Given the description of an element on the screen output the (x, y) to click on. 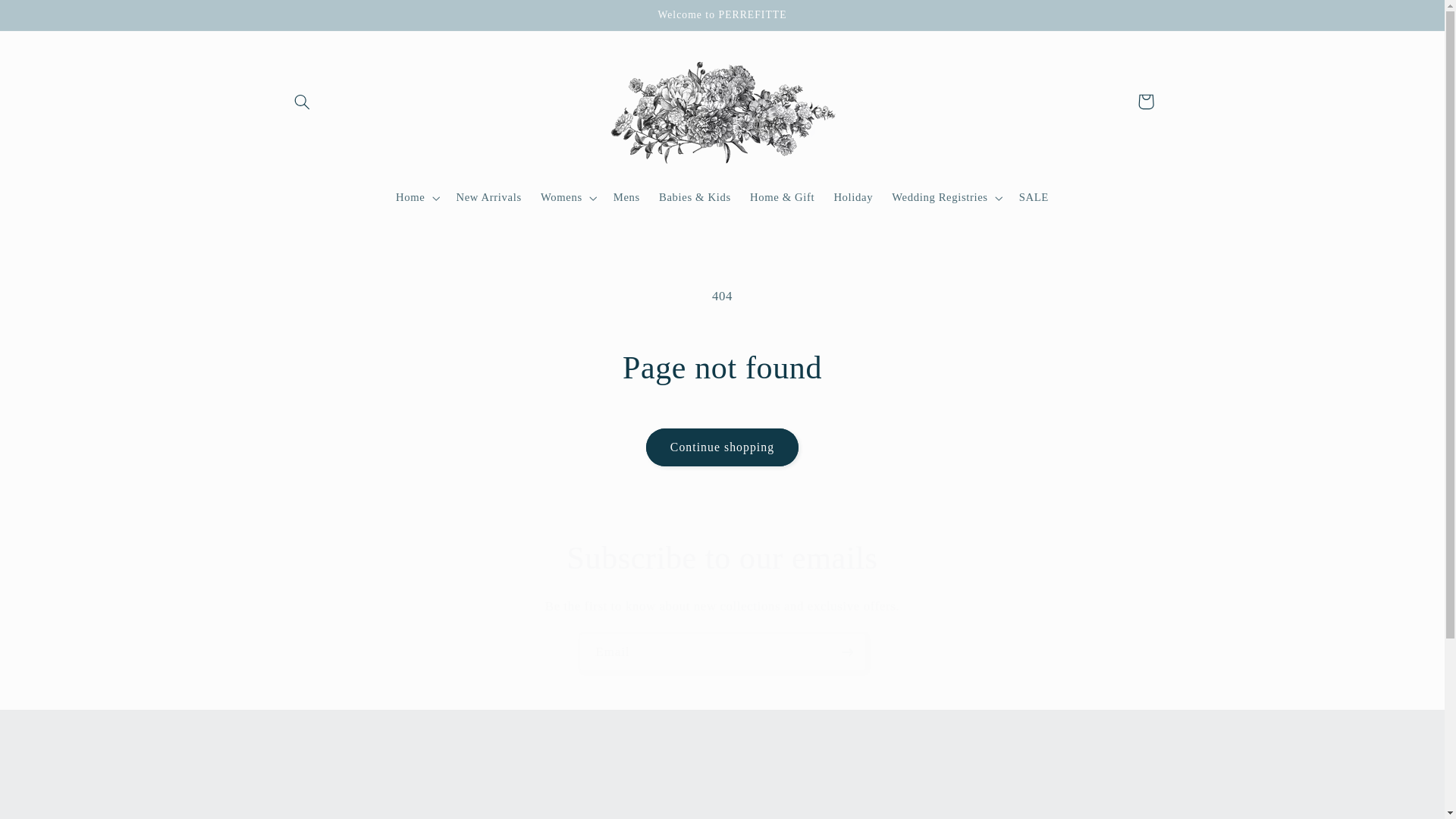
Skip to content (48, 18)
Holiday (853, 197)
New Arrivals (488, 197)
Subscribe to our emails (722, 558)
SALE (1033, 197)
Email (722, 651)
Mens (626, 197)
